Given the description of an element on the screen output the (x, y) to click on. 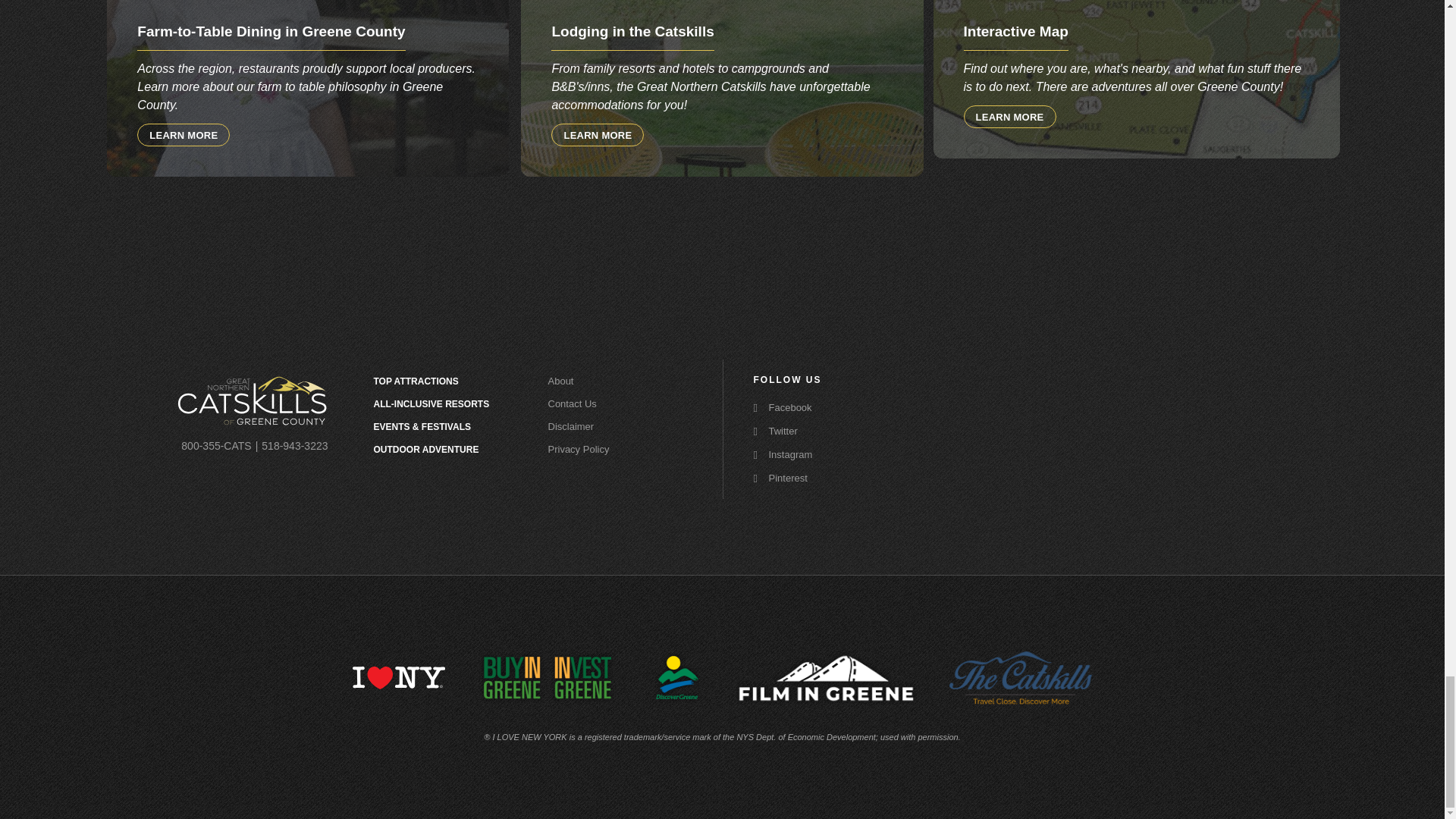
Visit us on Instagram (807, 453)
Visit us on Twitter (807, 430)
Visit us on Pinterest (807, 477)
Greene County Logo (251, 400)
Visit us on Facebook (807, 407)
